Given the description of an element on the screen output the (x, y) to click on. 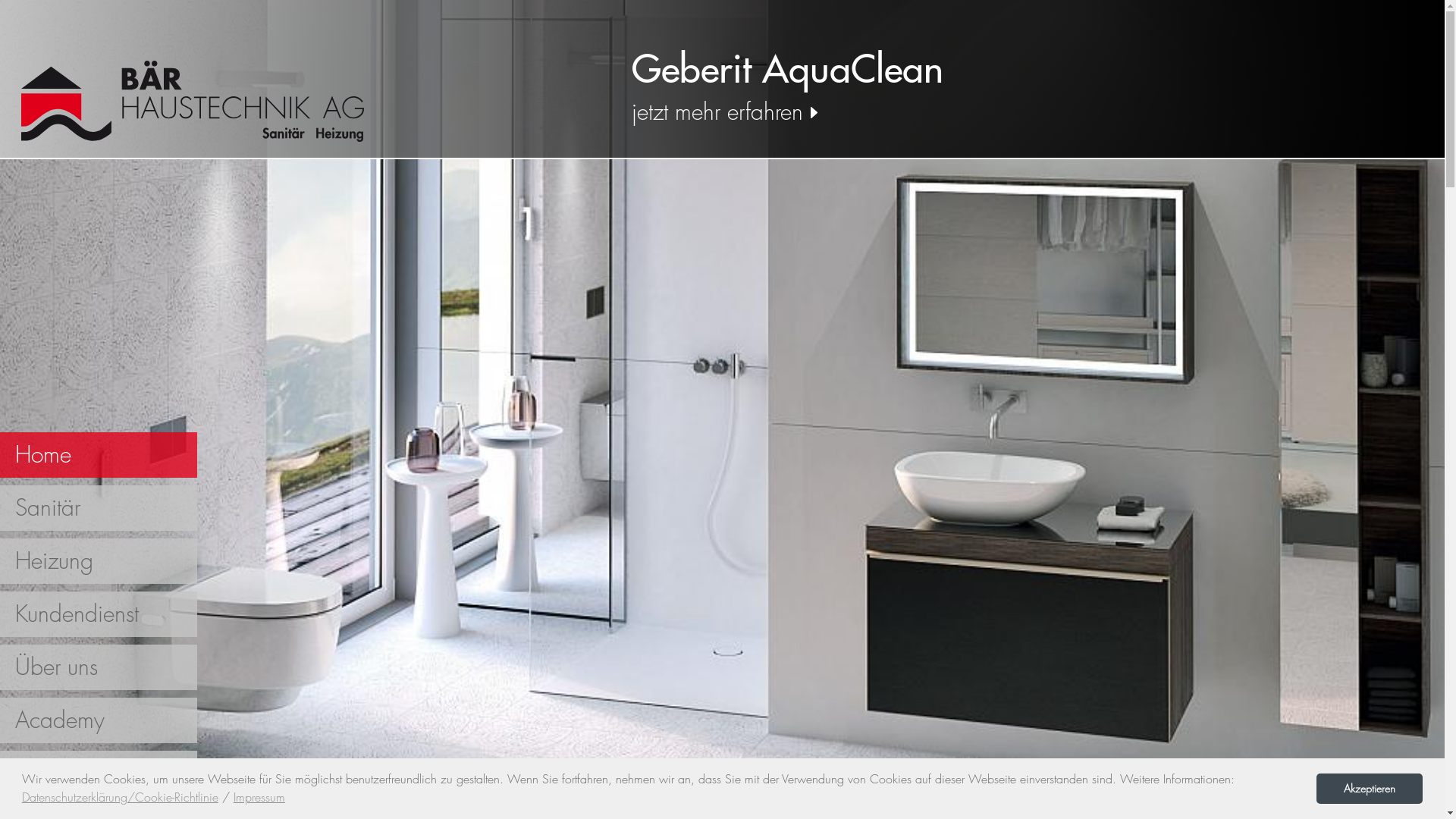
Heizung Element type: text (98, 560)
Akzeptieren Element type: text (1369, 788)
Kontakt Element type: text (98, 773)
Zur Badplanung Element type: text (1022, 112)
Impressum Element type: text (259, 797)
Home Element type: text (98, 454)
Academy Element type: text (98, 720)
Kundendienst Element type: text (98, 614)
